Given the description of an element on the screen output the (x, y) to click on. 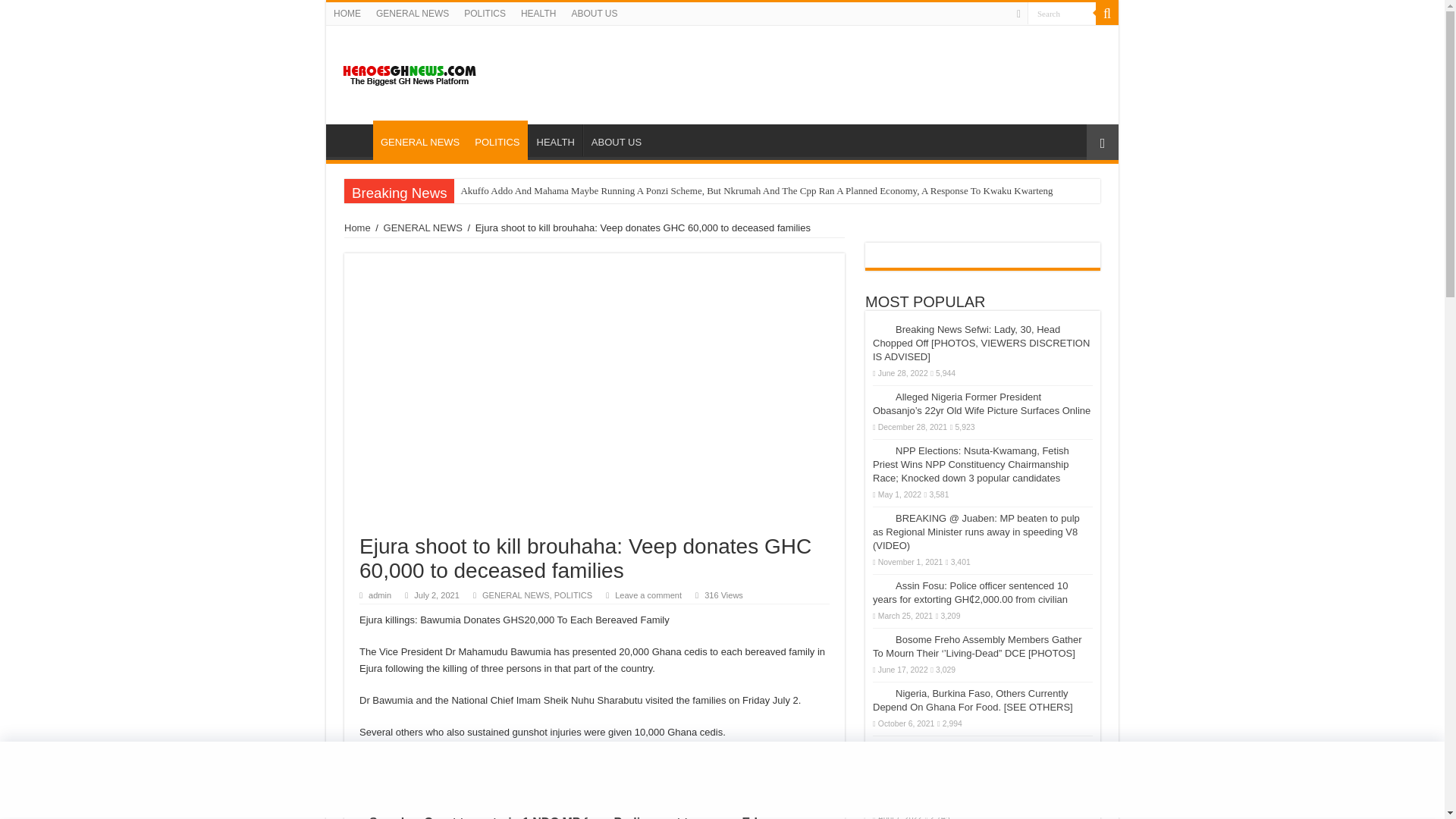
HOME (352, 140)
ABOUT US (616, 140)
Home (357, 227)
HEALTH (538, 13)
ABOUT US (593, 13)
Search (1107, 13)
Search (1061, 13)
Search (1061, 13)
HOME (347, 13)
GENERAL NEWS (423, 227)
Search (1061, 13)
POLITICS (497, 139)
admin (379, 594)
